Given the description of an element on the screen output the (x, y) to click on. 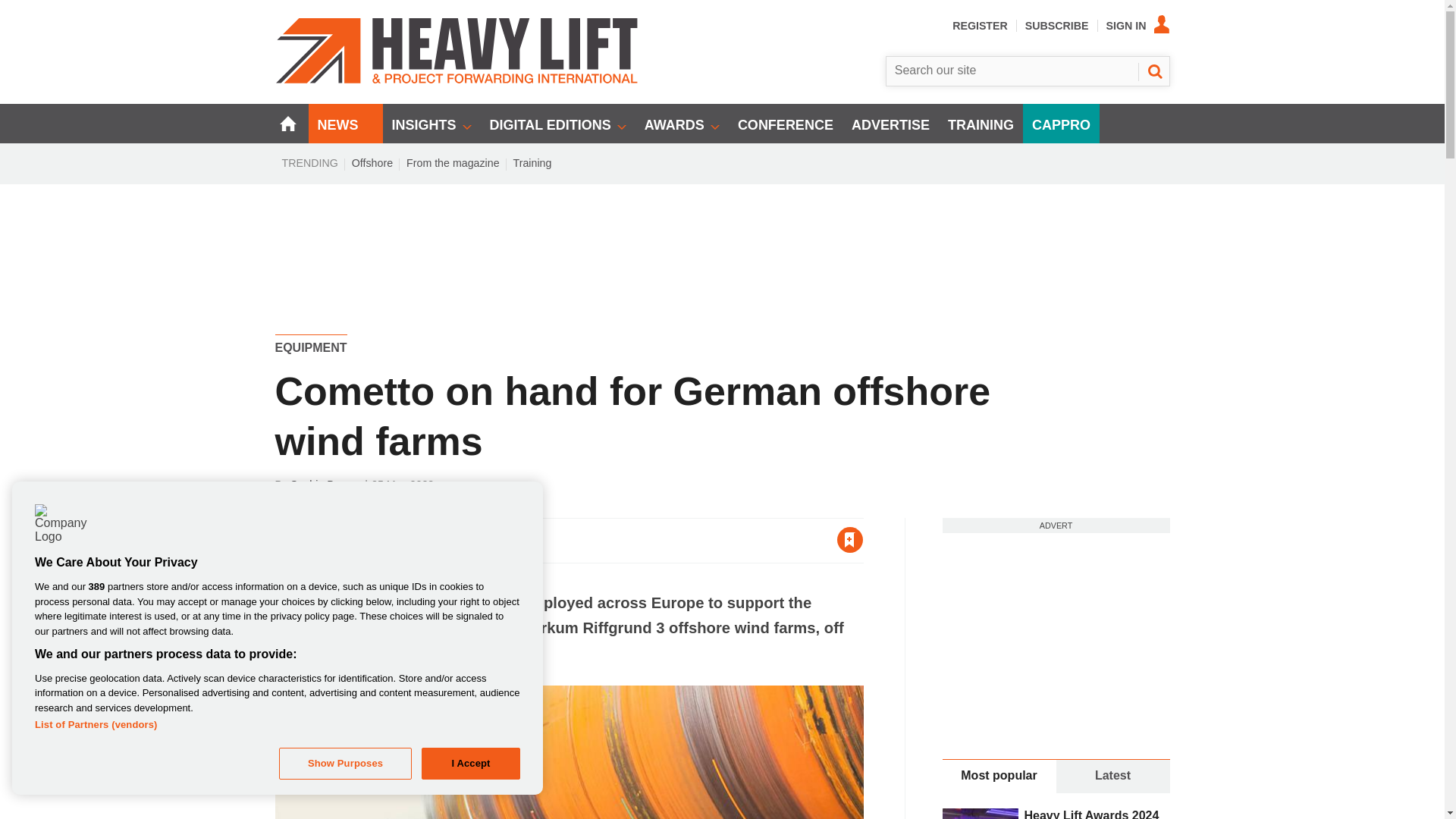
Offshore (371, 162)
Company Logo (58, 528)
SUBSCRIBE (1057, 25)
SEARCH (1153, 70)
3rd party ad content (722, 236)
Share this on Twitter (320, 539)
Email this article (386, 539)
SIGN IN (1138, 25)
Share this on Linked in (352, 539)
3rd party ad content (1055, 627)
